Given the description of an element on the screen output the (x, y) to click on. 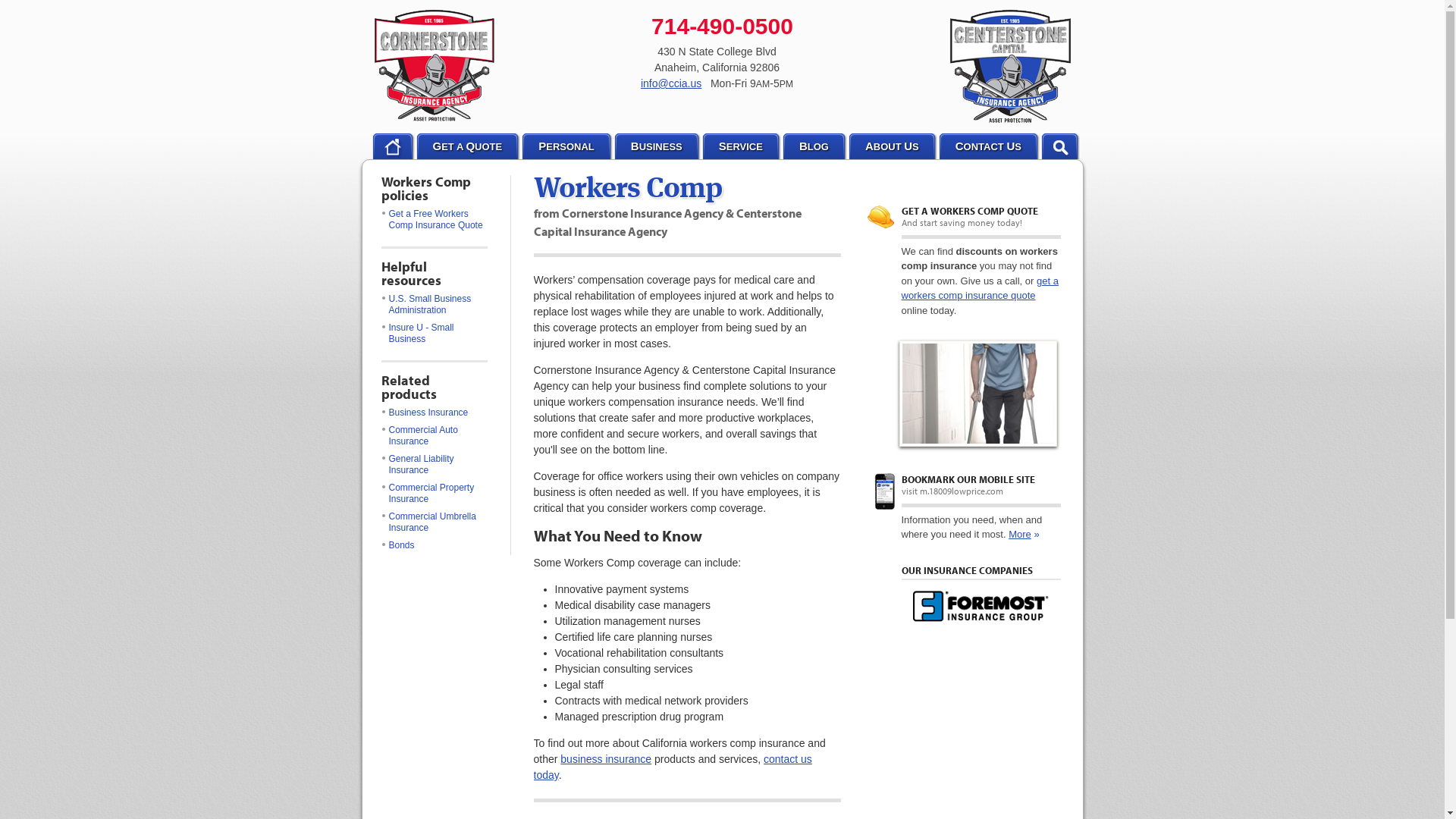
Commercial Umbrella Insurance Element type: text (433, 522)
EARCH Element type: text (1059, 146)
BOOKMARK OUR MOBILE SITE Element type: text (967, 479)
SERVICE Element type: text (740, 146)
business insurance Element type: text (605, 759)
ABOUT US Element type: text (892, 146)
Insure U - Small Business Element type: text (433, 334)
Cornerstone Insurance Agency Element type: text (434, 65)
Get a Free Workers Comp Insurance Quote Element type: text (433, 220)
Commercial Property Insurance Element type: text (433, 494)
Business Insurance Element type: text (433, 413)
General Liability Insurance Element type: text (433, 465)
PERSONAL Element type: text (566, 146)
Bonds Element type: text (433, 546)
U.S. Small Business Administration Element type: text (433, 305)
info@ccia.us Element type: text (670, 83)
Centerstone Capital Insurance Agency Element type: text (1010, 65)
BLOG Element type: text (814, 146)
GET A WORKERS COMP QUOTE Element type: text (968, 210)
Commercial Auto Insurance Element type: text (433, 436)
CONTACT US Element type: text (988, 146)
get a workers comp insurance quote Element type: text (978, 288)
contact us today Element type: text (672, 767)
OUR INSURANCE COMPANIES Element type: text (966, 570)
OME Element type: text (392, 146)
GET A QUOTE Element type: text (467, 146)
BUSINESS Element type: text (656, 146)
